Given the description of an element on the screen output the (x, y) to click on. 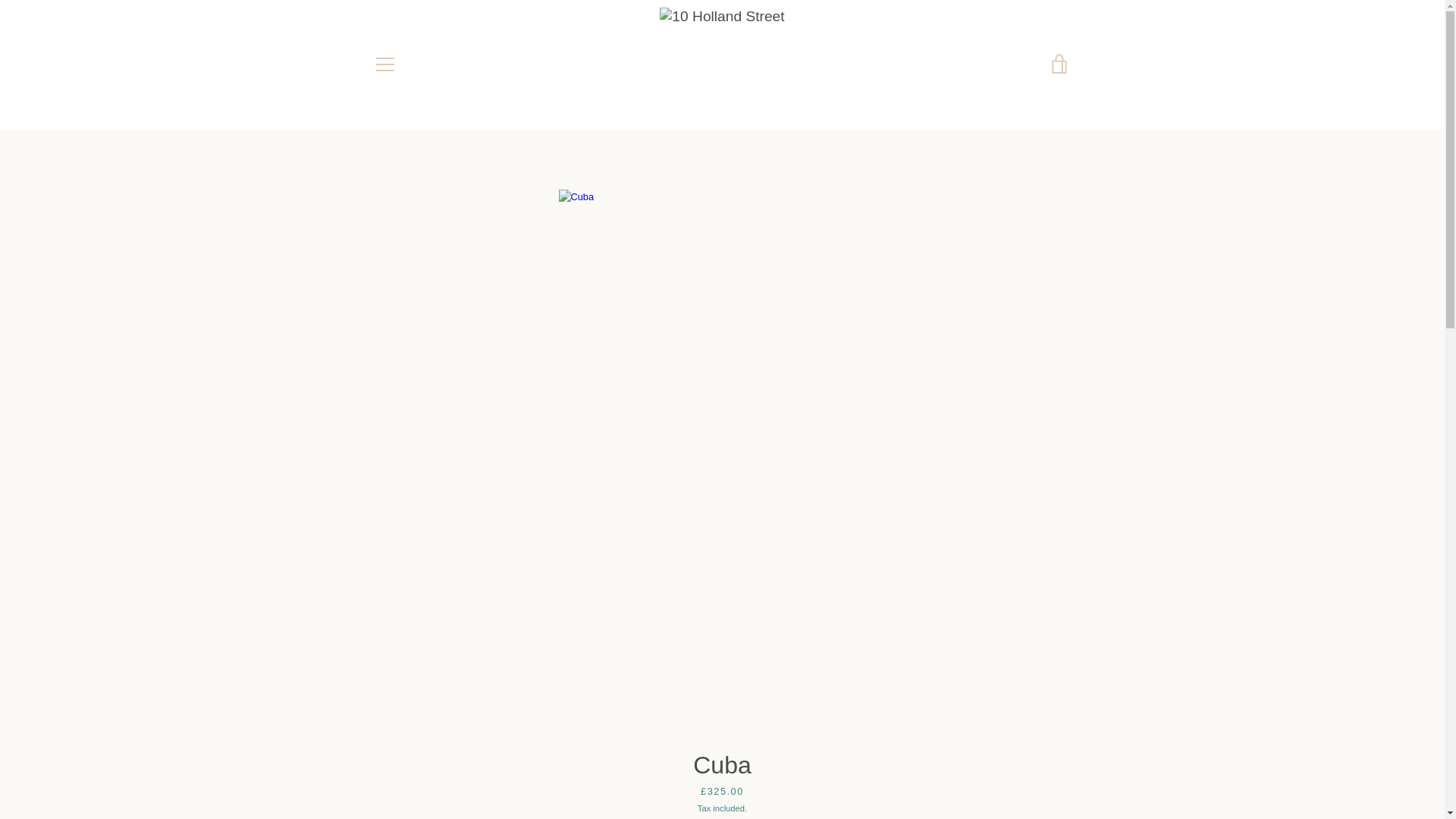
VIEW CART (1059, 64)
MENU (384, 64)
